Given the description of an element on the screen output the (x, y) to click on. 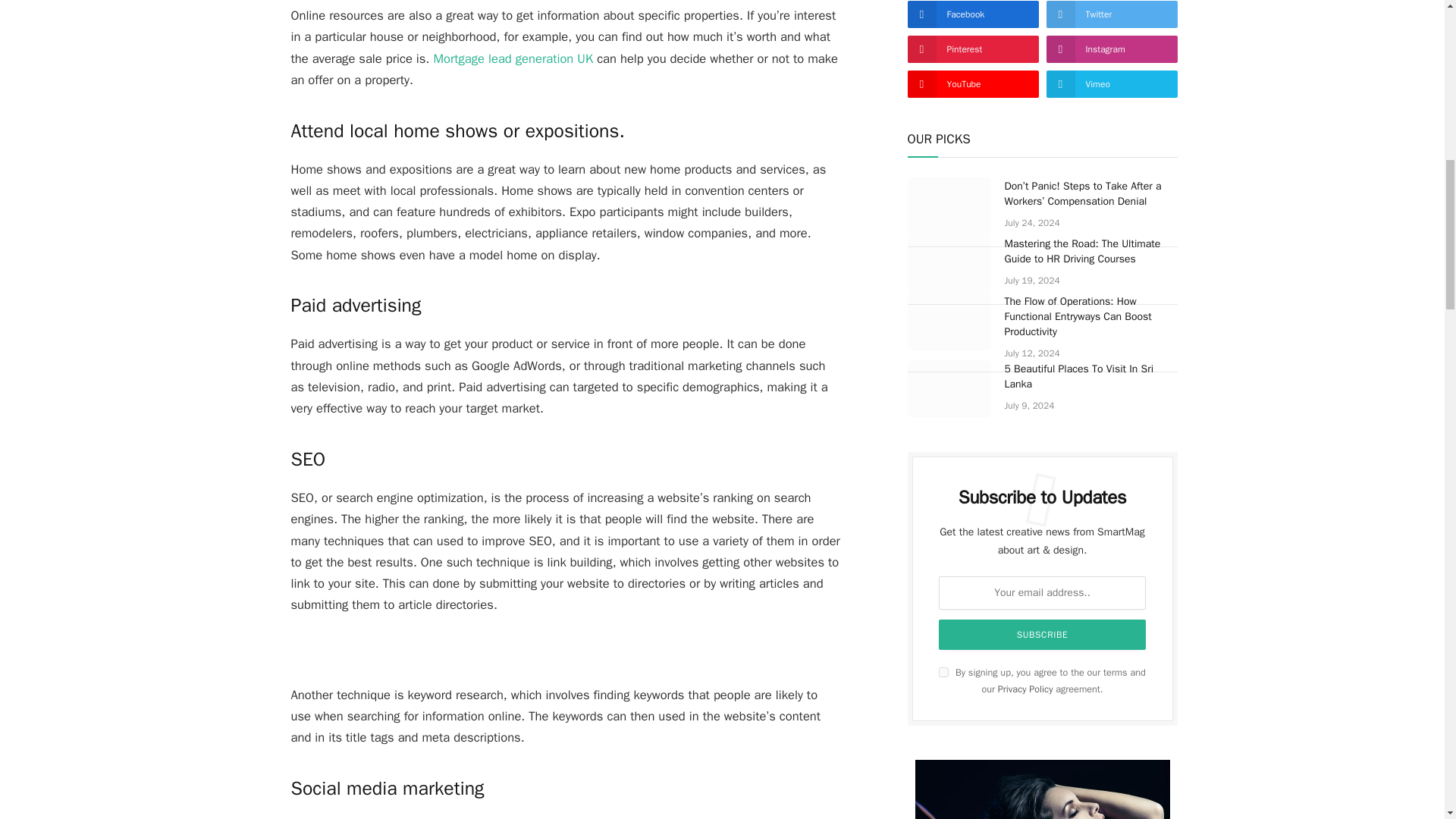
on (944, 672)
Subscribe (1043, 634)
